Given the description of an element on the screen output the (x, y) to click on. 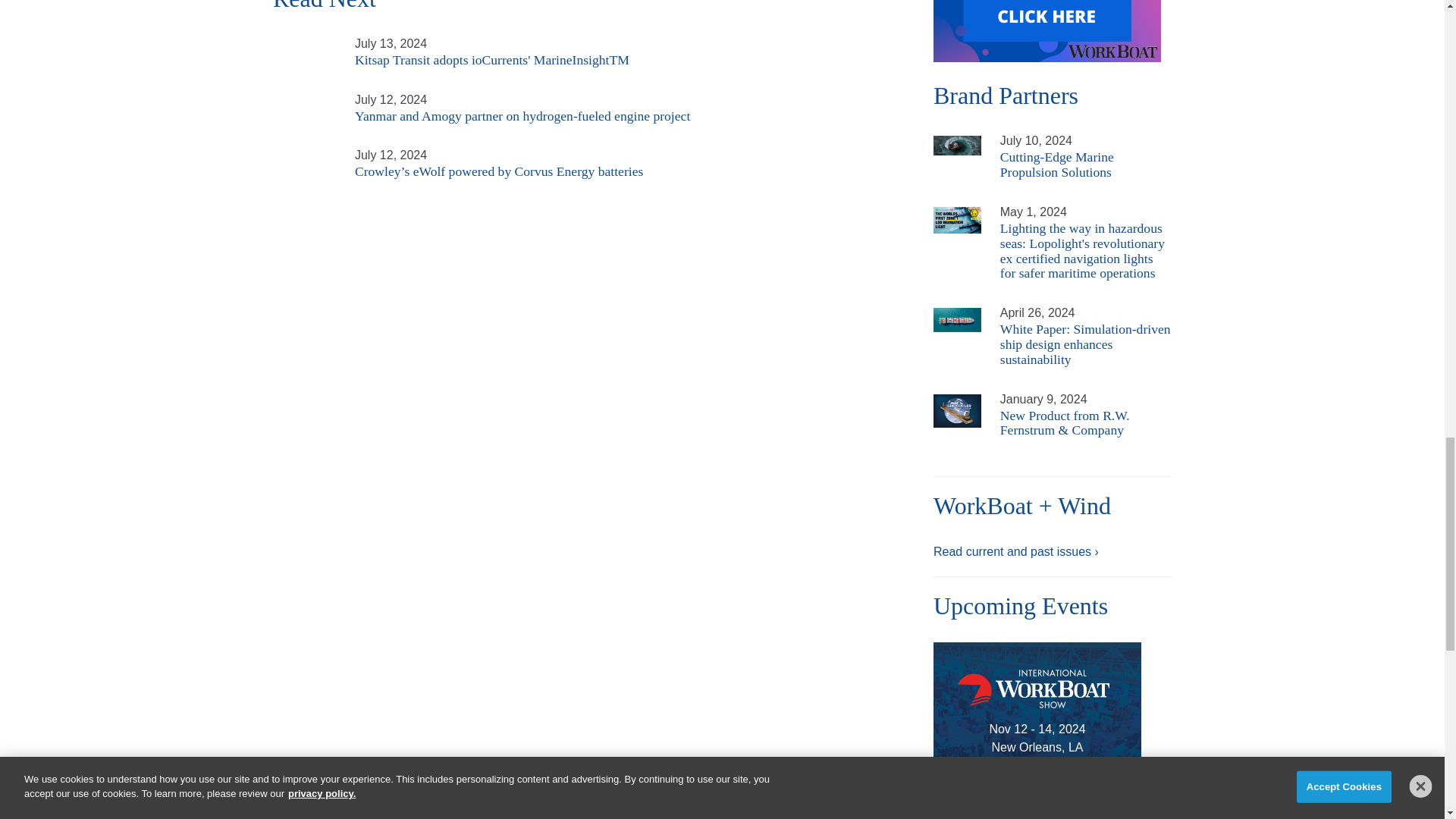
Yanmar and Amogy partner on hydrogen-fueled engine project (304, 98)
Kitsap Transit adopts ioCurrents' MarineInsightTM (304, 41)
